Given the description of an element on the screen output the (x, y) to click on. 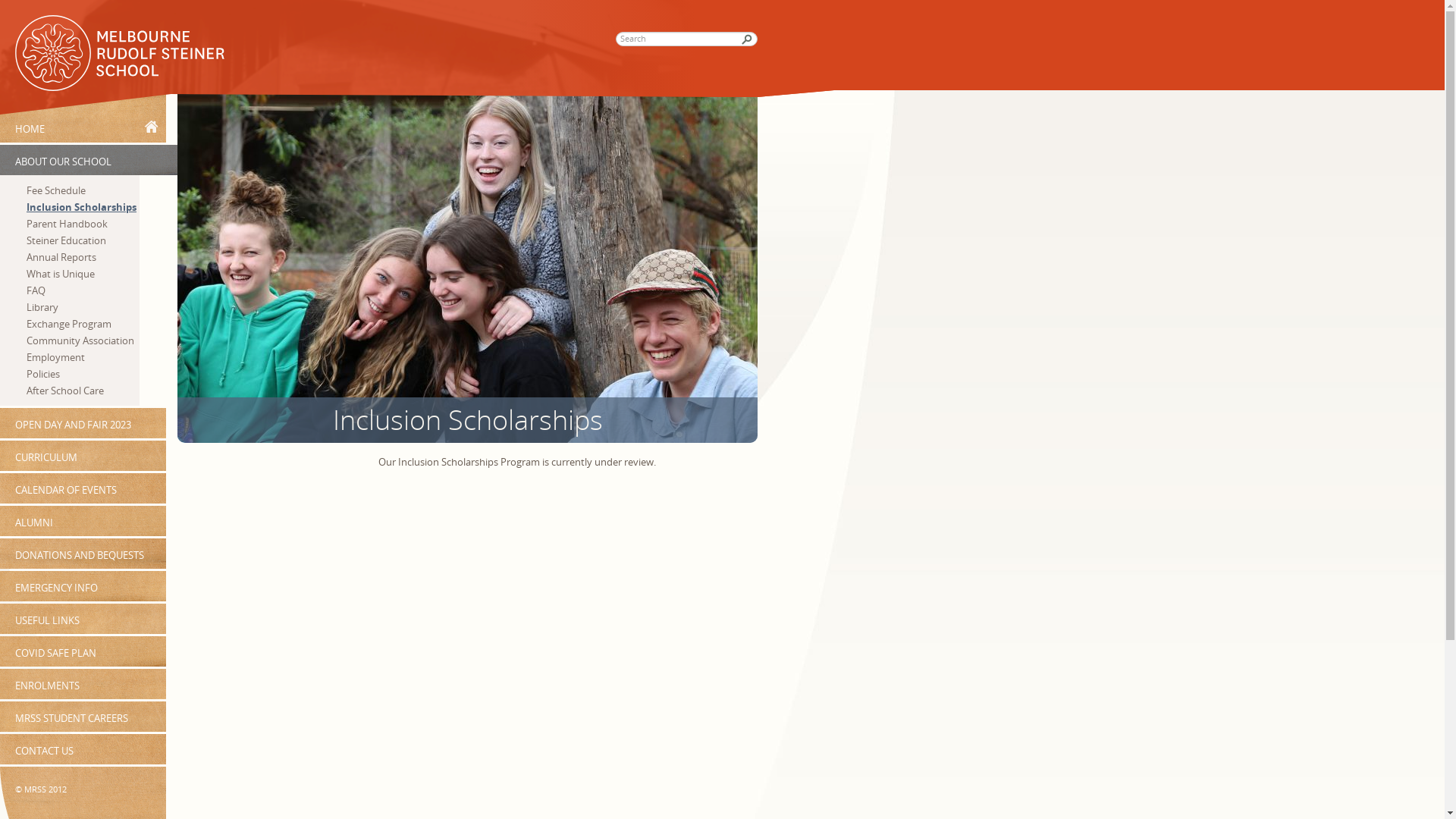
Inclusion Scholarships Element type: text (82, 206)
CONTACT US Element type: text (83, 749)
ALUMNI Element type: text (83, 520)
Fee Schedule Element type: text (82, 189)
What is Unique Element type: text (82, 273)
After School Care Element type: text (82, 390)
Steiner Education Element type: text (82, 239)
CURRICULUM Element type: text (83, 455)
Inclusion Scholarships Element type: text (467, 419)
USEFUL LINKS Element type: text (83, 618)
HOME Element type: text (83, 116)
Search Element type: text (19, 8)
Library Element type: text (82, 306)
CALENDAR OF EVENTS Element type: text (83, 488)
ABOUT OUR SCHOOL Element type: text (88, 159)
Skip to primary content Element type: text (53, 7)
MRSS STUDENT CAREERS Element type: text (83, 716)
Skip to secondary content Element type: text (59, 7)
FAQ Element type: text (82, 290)
ENROLMENTS Element type: text (83, 683)
Exchange Program Element type: text (82, 323)
Policies Element type: text (82, 373)
Community Association Element type: text (82, 340)
EMERGENCY INFO Element type: text (83, 586)
Annual Reports Element type: text (82, 256)
COVID SAFE PLAN Element type: text (83, 651)
Parent Handbook Element type: text (82, 223)
Melbourne Rudolf Steiner School Element type: hover (123, 56)
DONATIONS AND BEQUESTS Element type: text (83, 553)
Employment Element type: text (82, 356)
OPEN DAY AND FAIR 2023 Element type: text (83, 422)
